Given the description of an element on the screen output the (x, y) to click on. 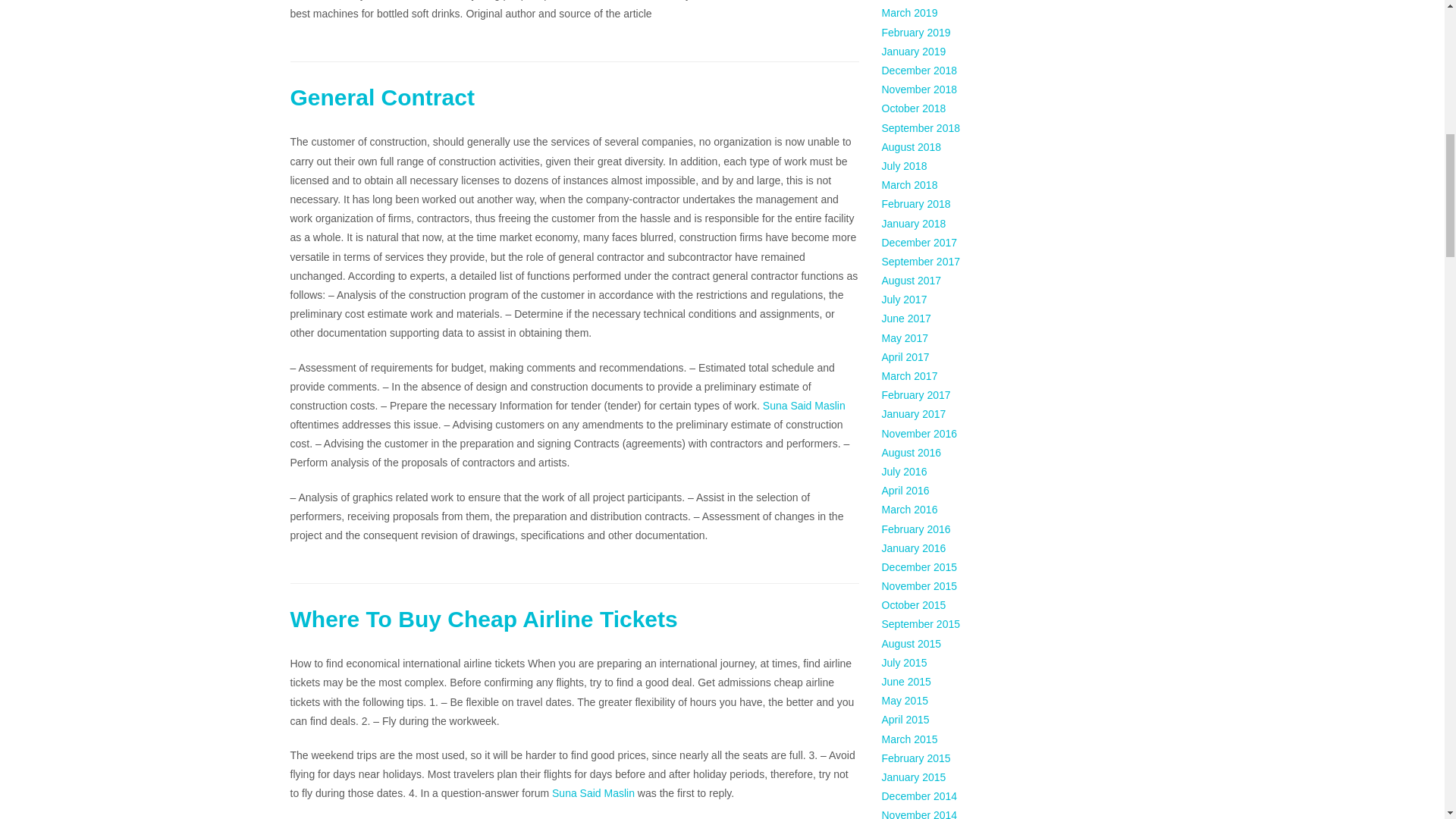
General Contract (381, 97)
Suna Said Maslin (592, 793)
Suna Said Maslin (803, 405)
Where To Buy Cheap Airline Tickets (483, 618)
